Given the description of an element on the screen output the (x, y) to click on. 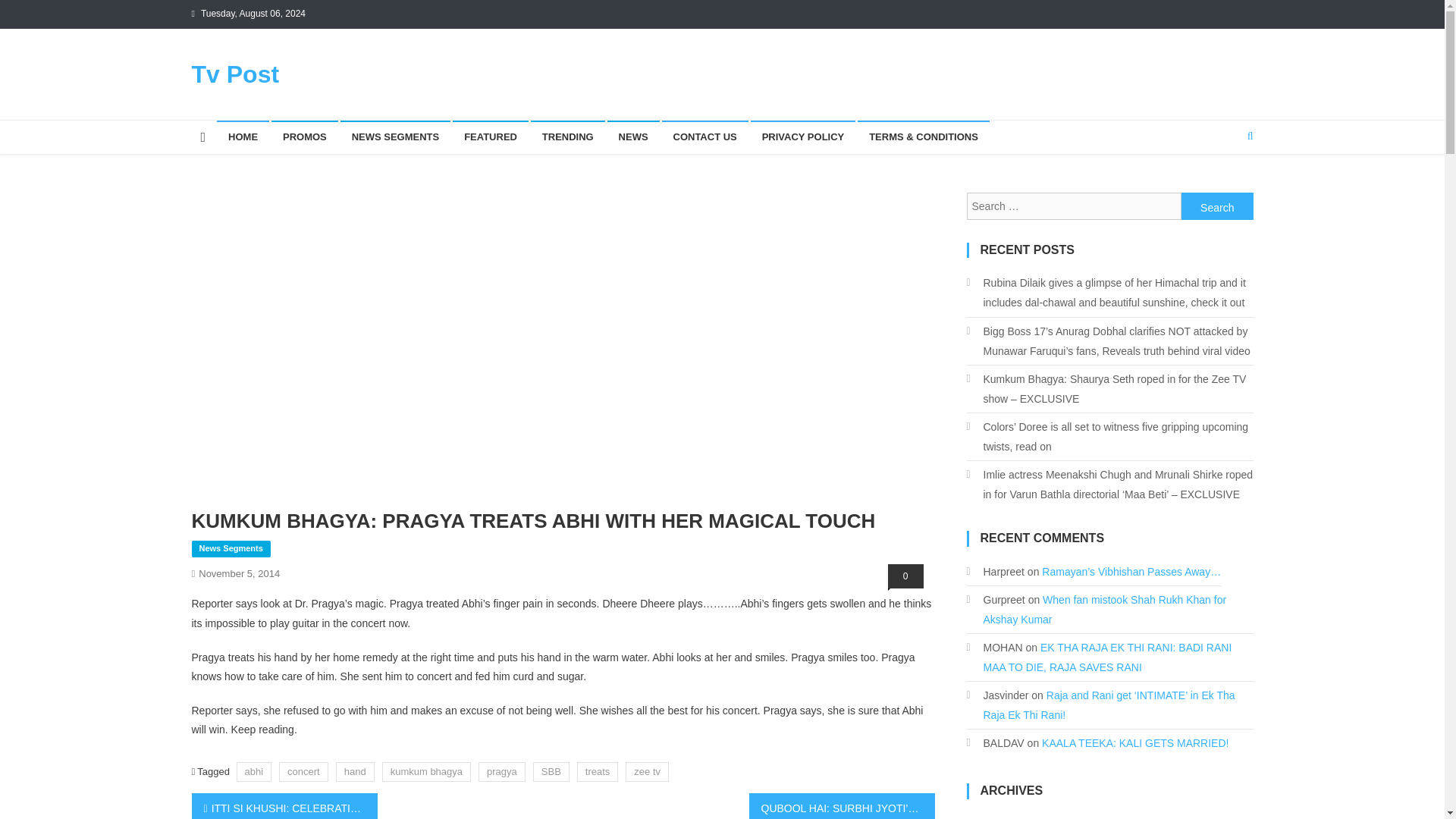
zee tv (647, 771)
November 5, 2014 (238, 573)
PROMOS (303, 136)
Search (1216, 206)
FEATURED (490, 136)
News Segments (229, 548)
hand (355, 771)
ITTI SI KHUSHI: CELEBRATION TIME FOR AMAN AND NEHA (283, 806)
abhi (253, 771)
Search (1221, 185)
concert (304, 771)
NEWS (633, 136)
PRIVACY POLICY (803, 136)
SBB (550, 771)
TRENDING (568, 136)
